Given the description of an element on the screen output the (x, y) to click on. 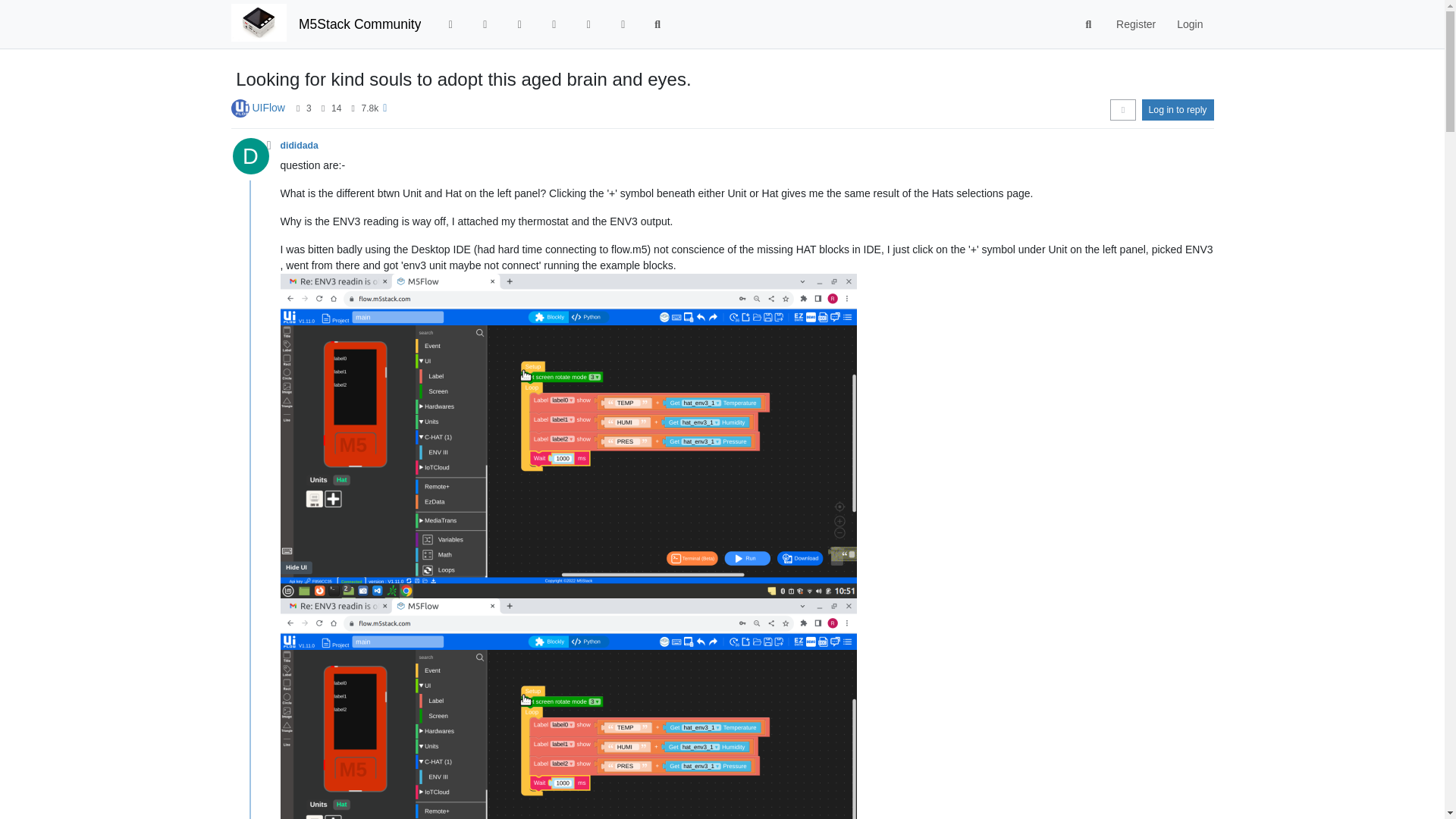
14 (335, 108)
Posters (298, 108)
Groups (622, 24)
Categories (449, 24)
M5Stack Community (359, 24)
D (255, 159)
Tags (519, 24)
Login (1189, 24)
dididada (299, 145)
Popular (554, 24)
